Given the description of an element on the screen output the (x, y) to click on. 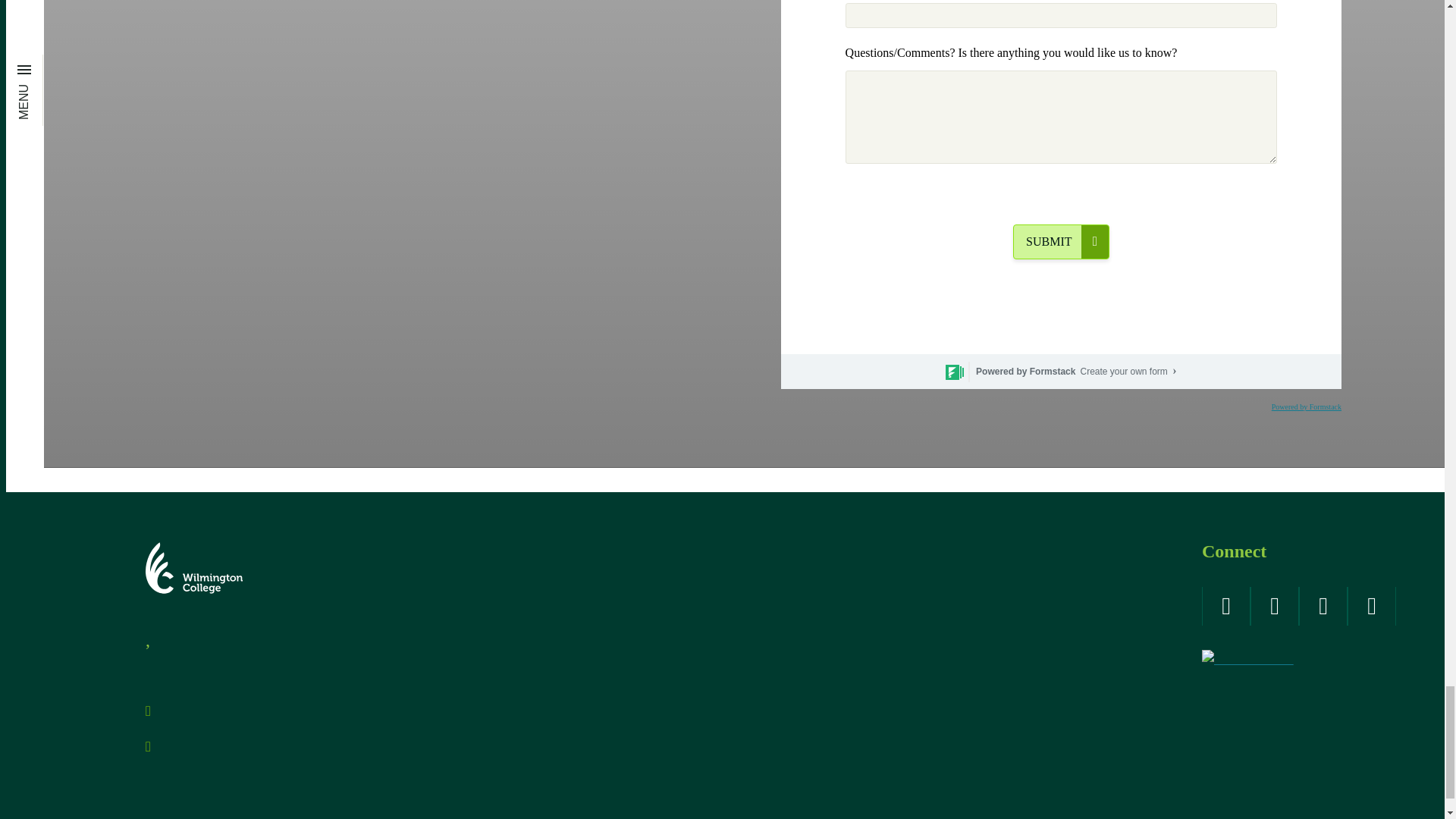
Formstack (1012, 371)
Formstack (1128, 371)
Powered by Formstack (1305, 406)
